Given the description of an element on the screen output the (x, y) to click on. 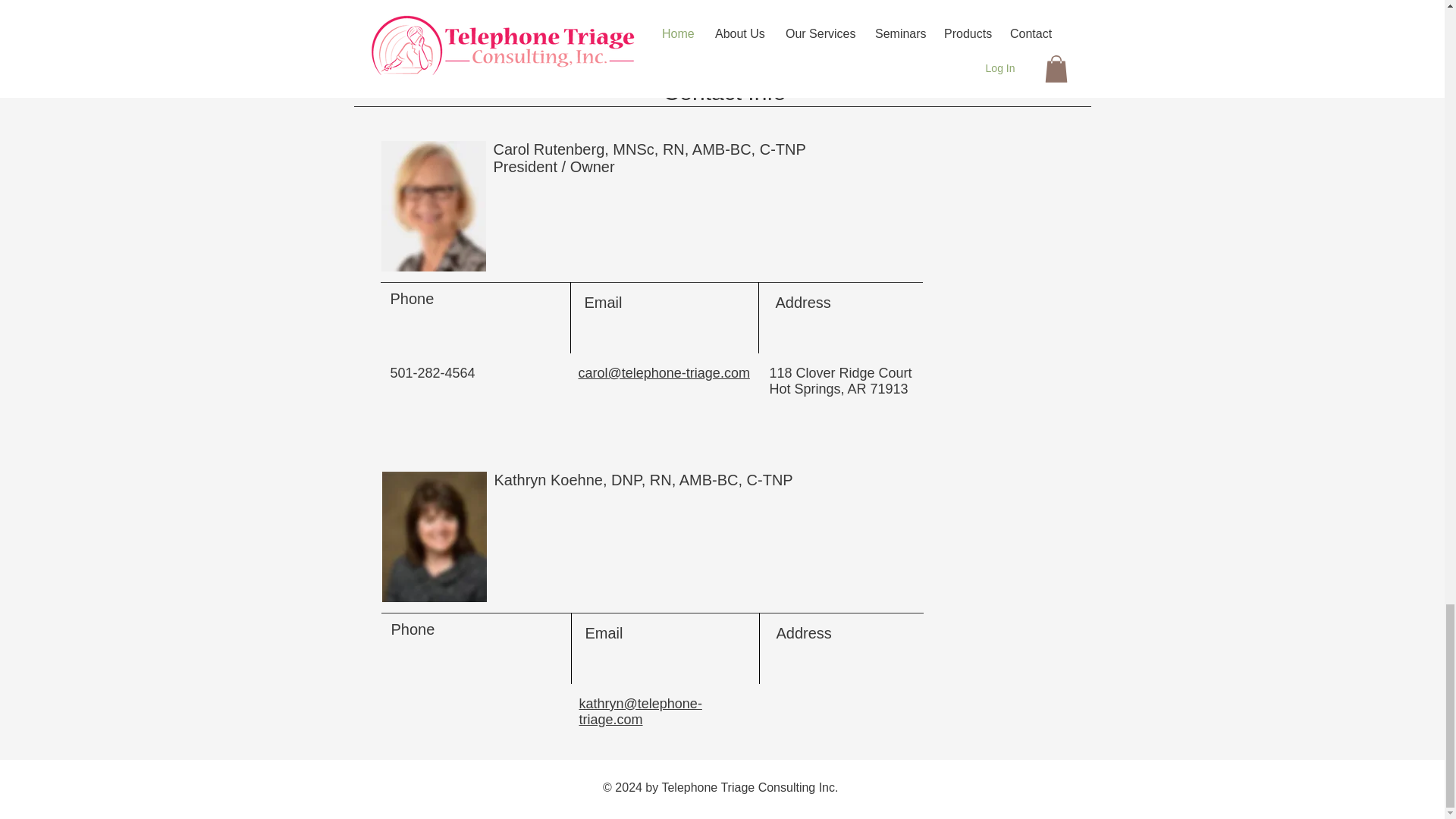
118 Clover Ridge Court (839, 372)
Hot Springs, AR 71913 (837, 388)
MORE INFO (756, 12)
